Given the description of an element on the screen output the (x, y) to click on. 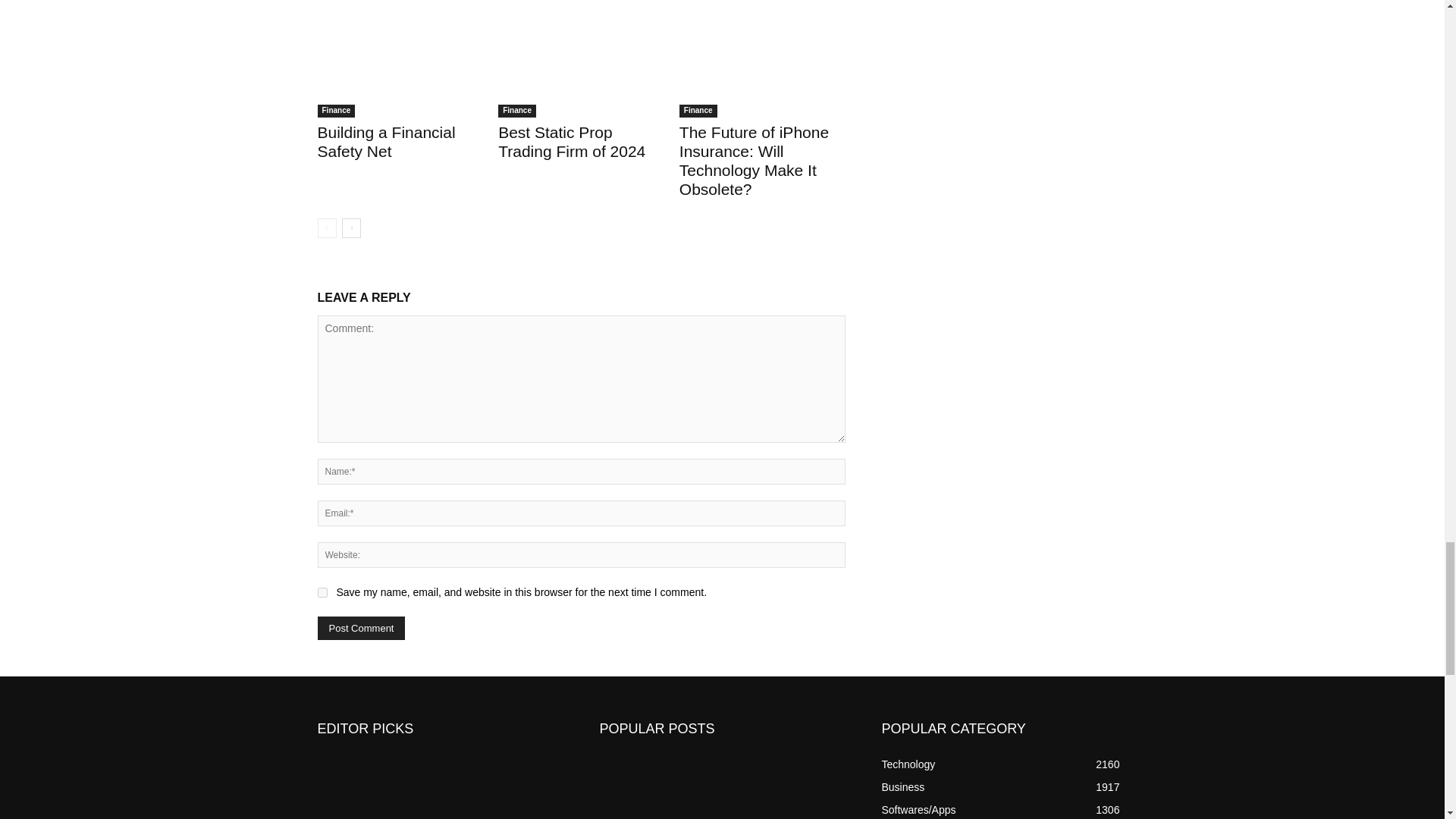
yes (321, 592)
Post Comment (360, 627)
